Given the description of an element on the screen output the (x, y) to click on. 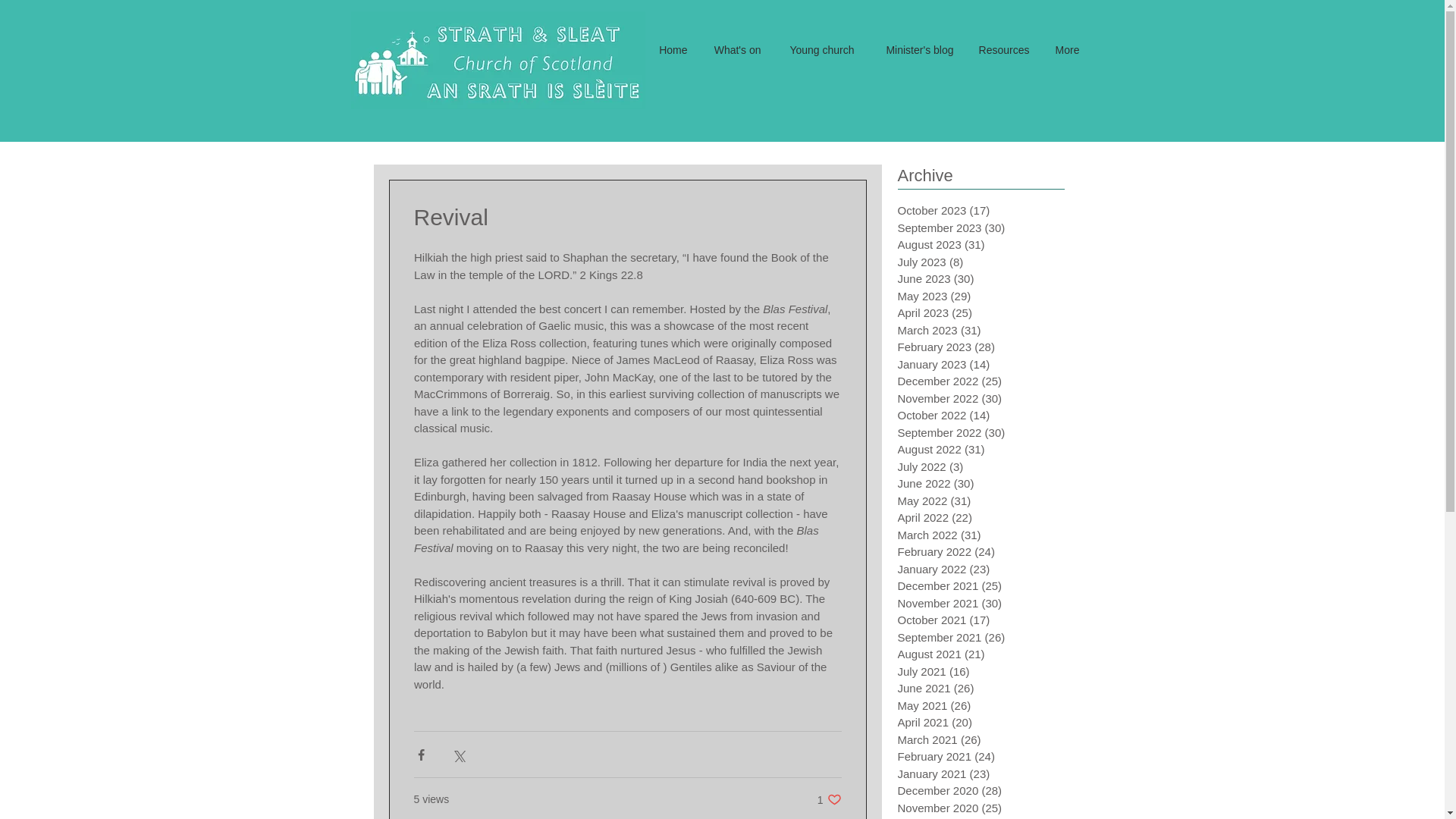
Home (671, 50)
Minister's blog (915, 50)
Resources (1002, 50)
What's on (828, 799)
Young church (735, 50)
